Given the description of an element on the screen output the (x, y) to click on. 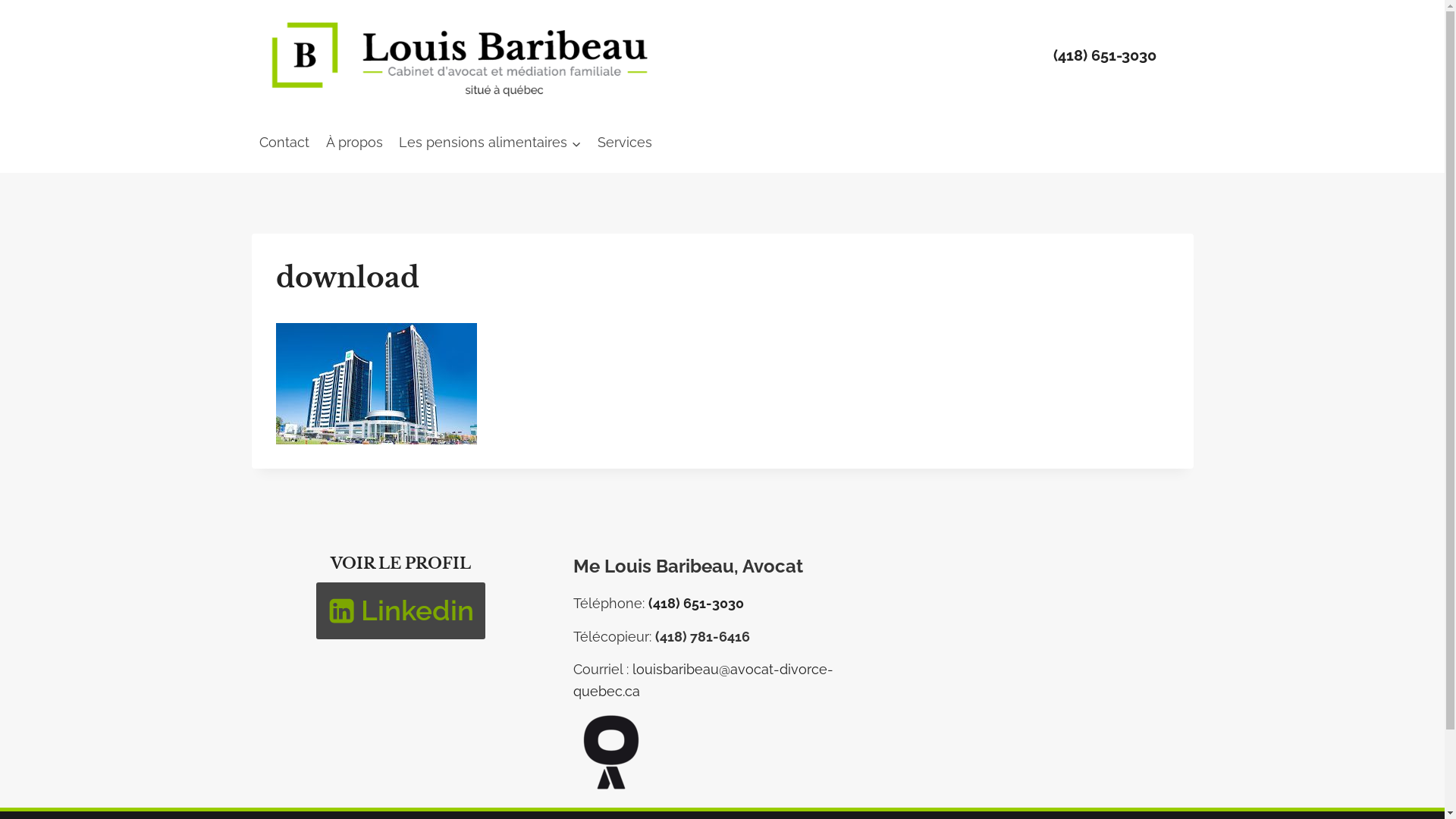
Les pensions alimentaires Element type: text (490, 142)
Services Element type: text (624, 142)
(418) 651-3030 Element type: text (695, 603)
louisbaribeau@avocat-divorce-quebec.ca Element type: text (703, 680)
Contact Element type: text (284, 142)
Linkedin Element type: text (400, 610)
(418) 651-3030 Element type: text (1104, 55)
